Given the description of an element on the screen output the (x, y) to click on. 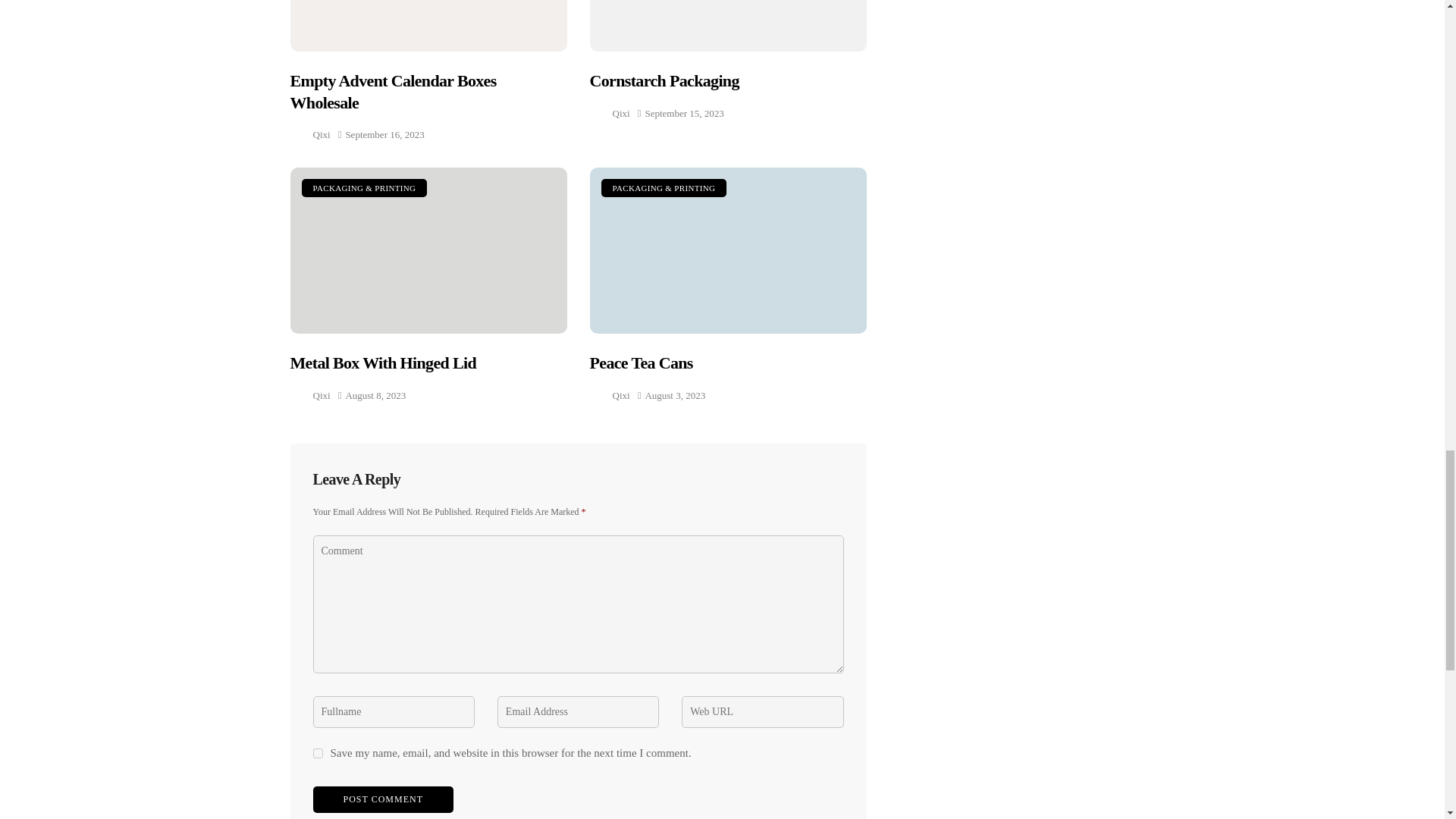
yes (317, 753)
Posts by Qixi (321, 134)
Posts by Qixi (621, 113)
Posts by Qixi (321, 394)
Cornstarch Packaging (727, 25)
Post Comment (382, 799)
Metal Box With Hinged Lid (427, 250)
Peace Tea Cans (727, 250)
Posts by Qixi (621, 394)
Empty Advent Calendar Boxes Wholesale (427, 25)
